Given the description of an element on the screen output the (x, y) to click on. 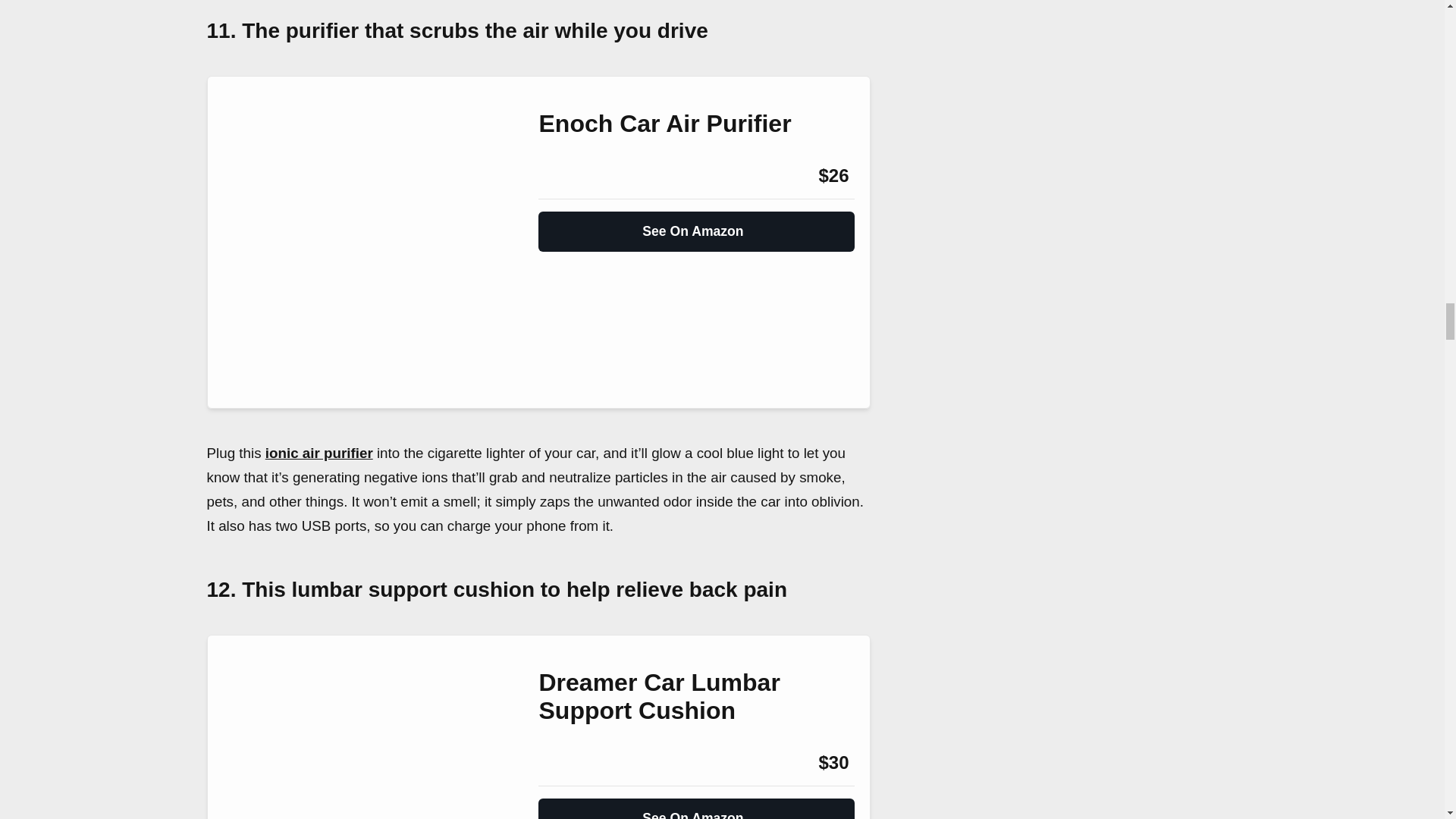
Amazon (579, 762)
Amazon (579, 176)
